Given the description of an element on the screen output the (x, y) to click on. 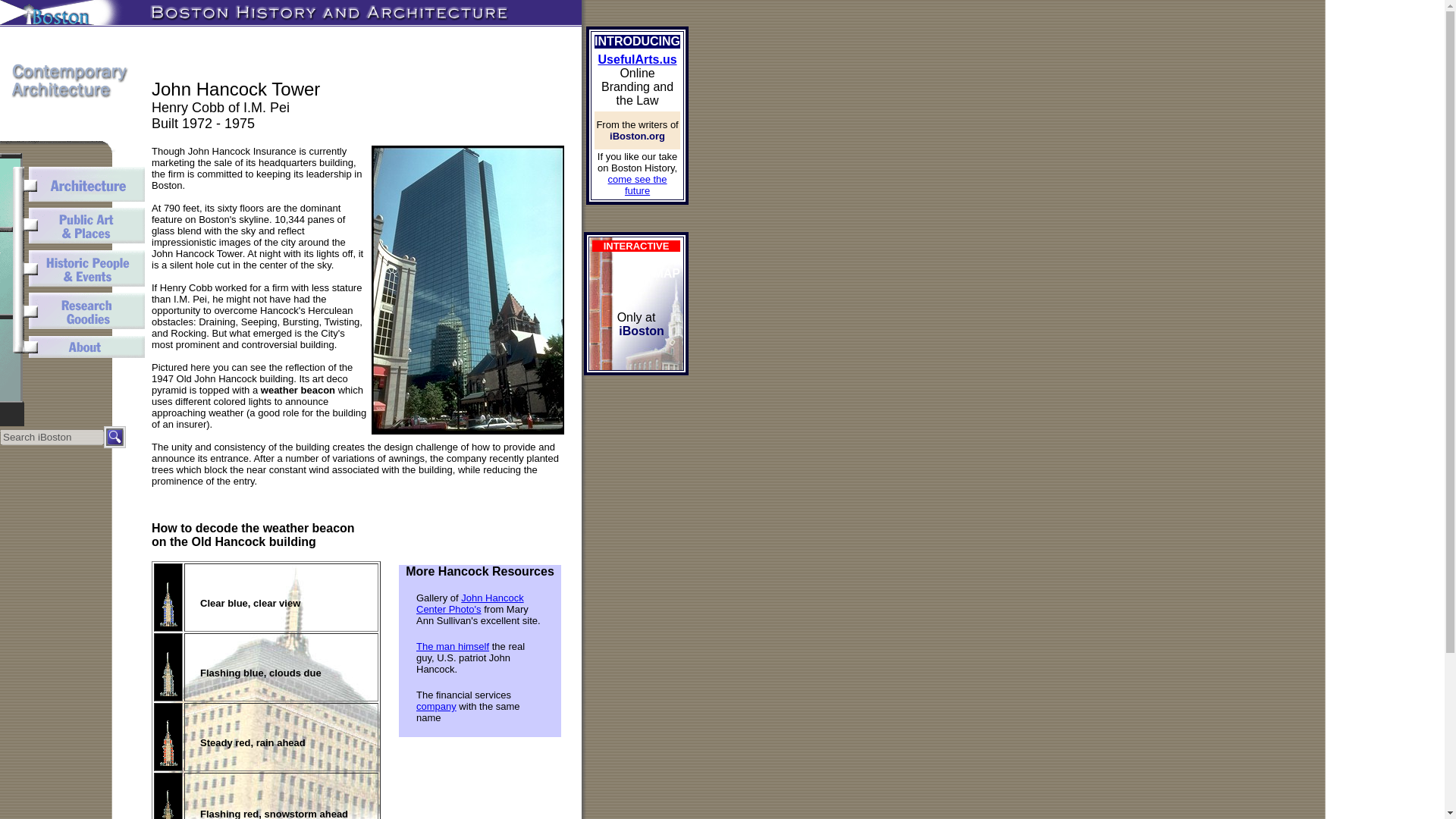
company (436, 706)
The man himself (452, 645)
John Hancock Center Photo's (470, 603)
iBoston (640, 330)
FREEDOM TRAIL MAP (646, 266)
UsefulArts.us (637, 59)
Search iBoston (51, 437)
come see the future (637, 184)
